Given the description of an element on the screen output the (x, y) to click on. 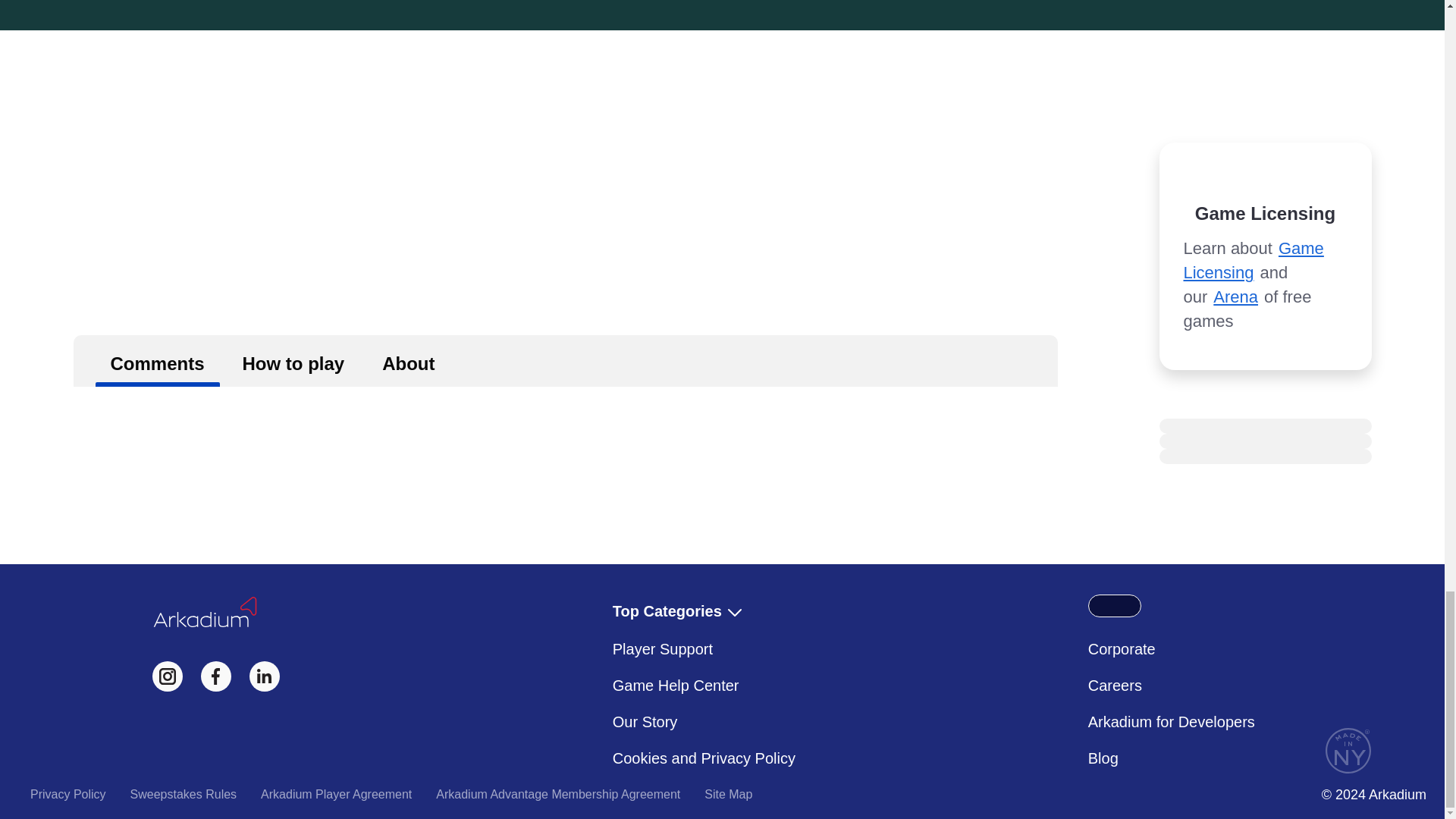
How to play (293, 360)
'Made in NY' logo (1347, 750)
Arena (1234, 296)
Comments (157, 360)
Game Licensing (1252, 260)
About (407, 360)
